Given the description of an element on the screen output the (x, y) to click on. 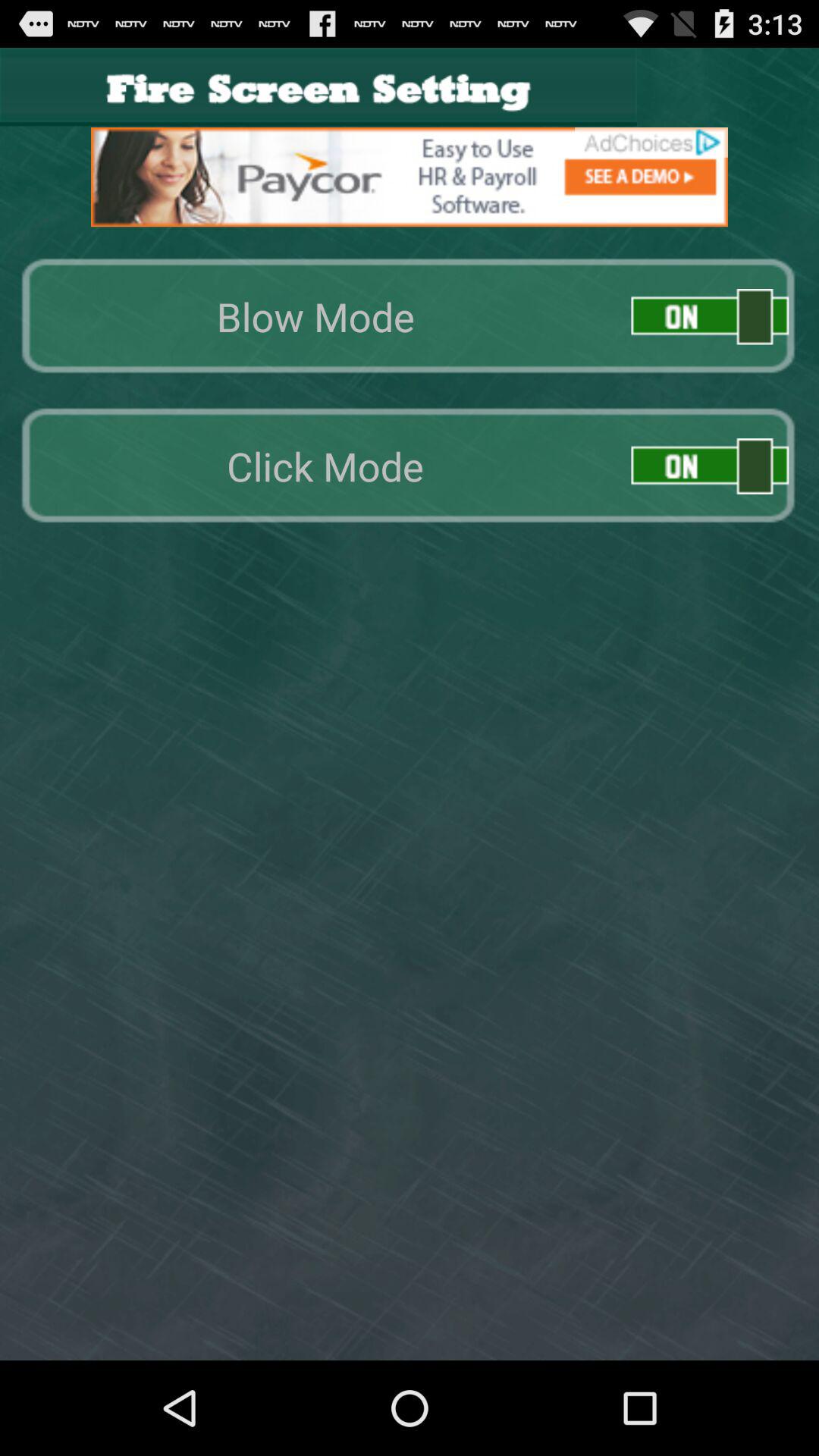
click on/off mode (709, 466)
